Given the description of an element on the screen output the (x, y) to click on. 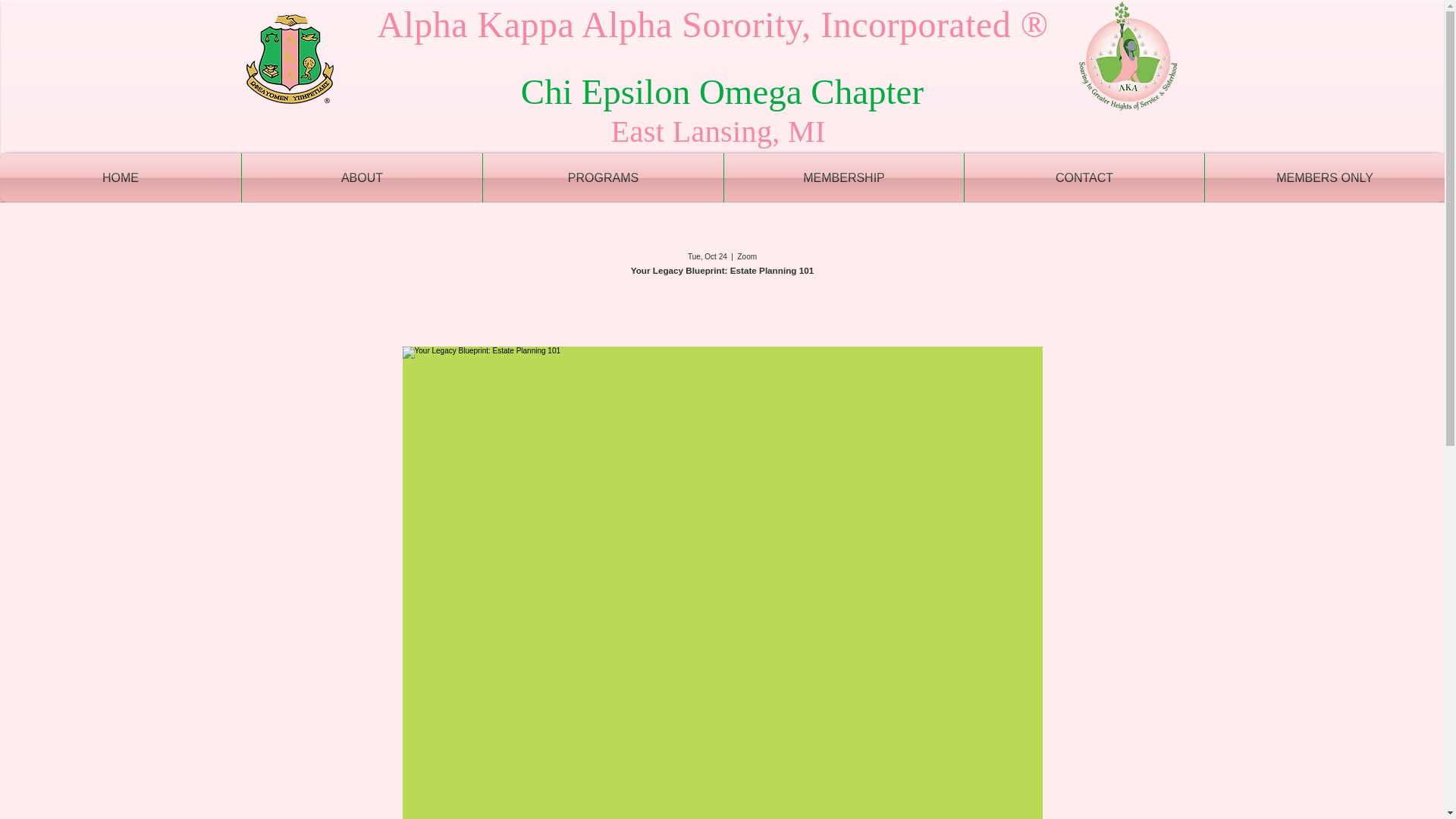
HOME (120, 177)
CONTACT (1083, 177)
MEMBERSHIP (843, 177)
PROGRAMS (603, 177)
ABOUT (361, 177)
